Given the description of an element on the screen output the (x, y) to click on. 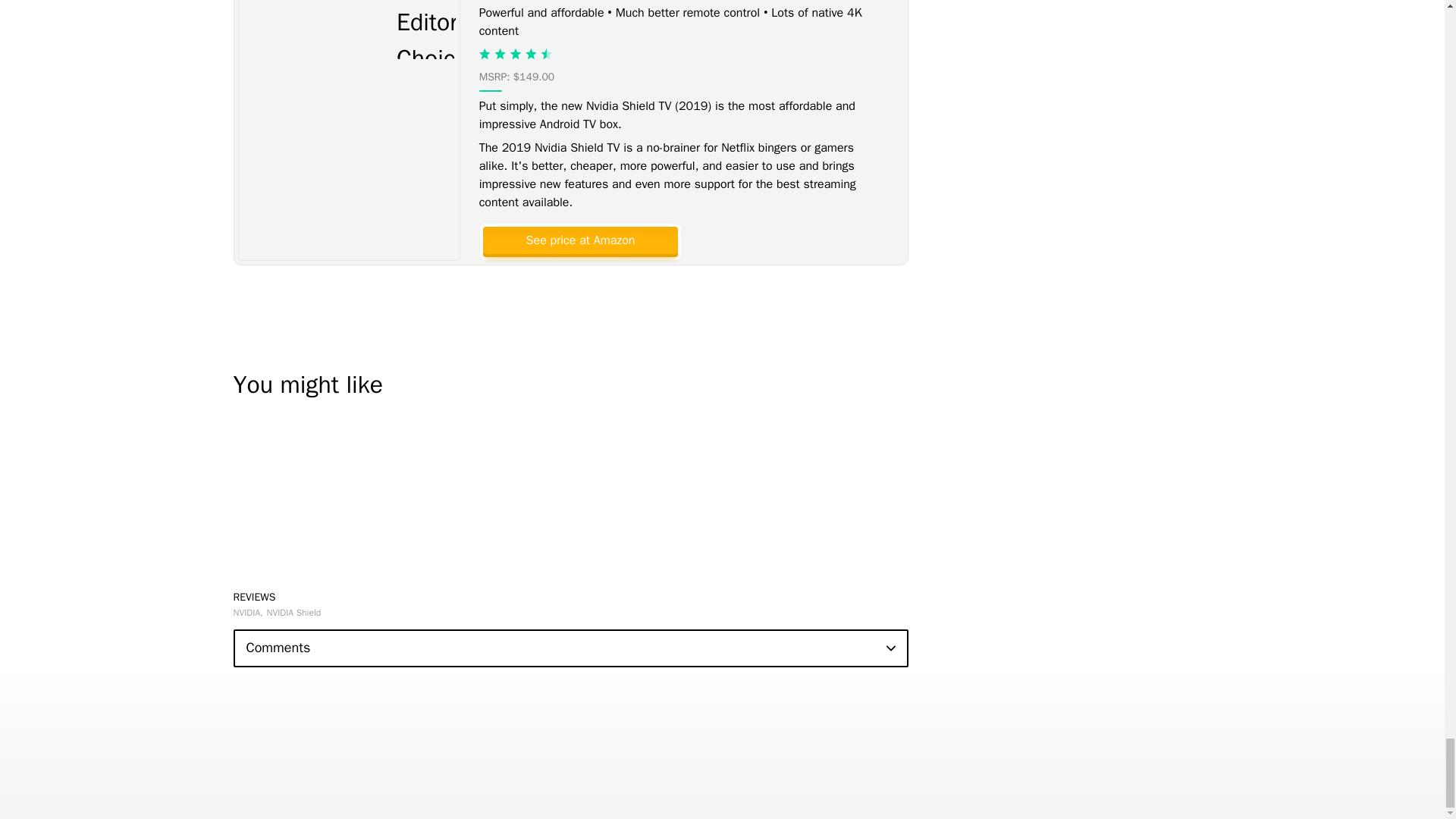
See price at Amazon (579, 239)
NVIDIA Shield (293, 612)
NVIDIA (247, 612)
REVIEWS (254, 596)
